Given the description of an element on the screen output the (x, y) to click on. 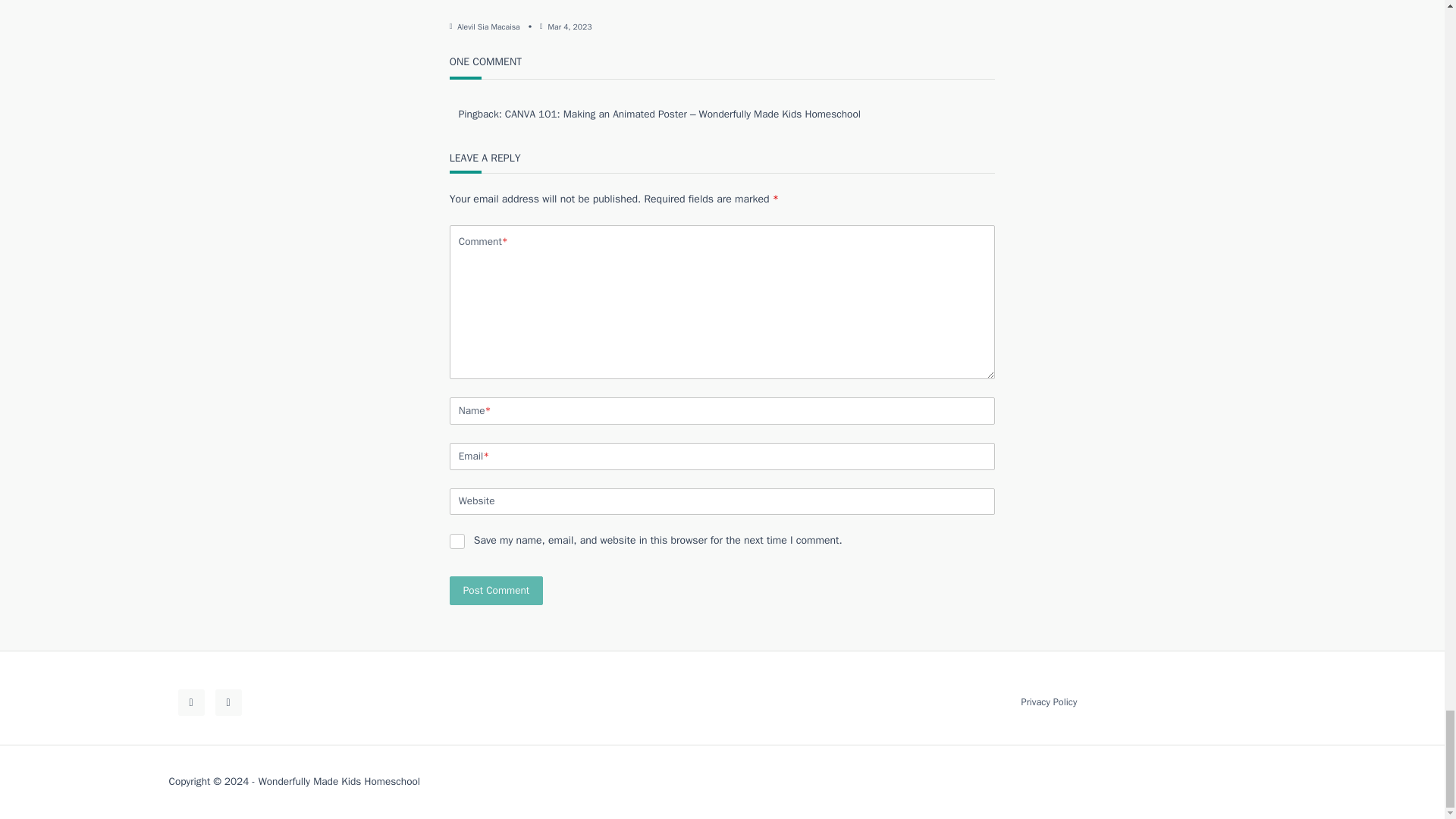
Post Comment (496, 591)
yes (456, 540)
